Given the description of an element on the screen output the (x, y) to click on. 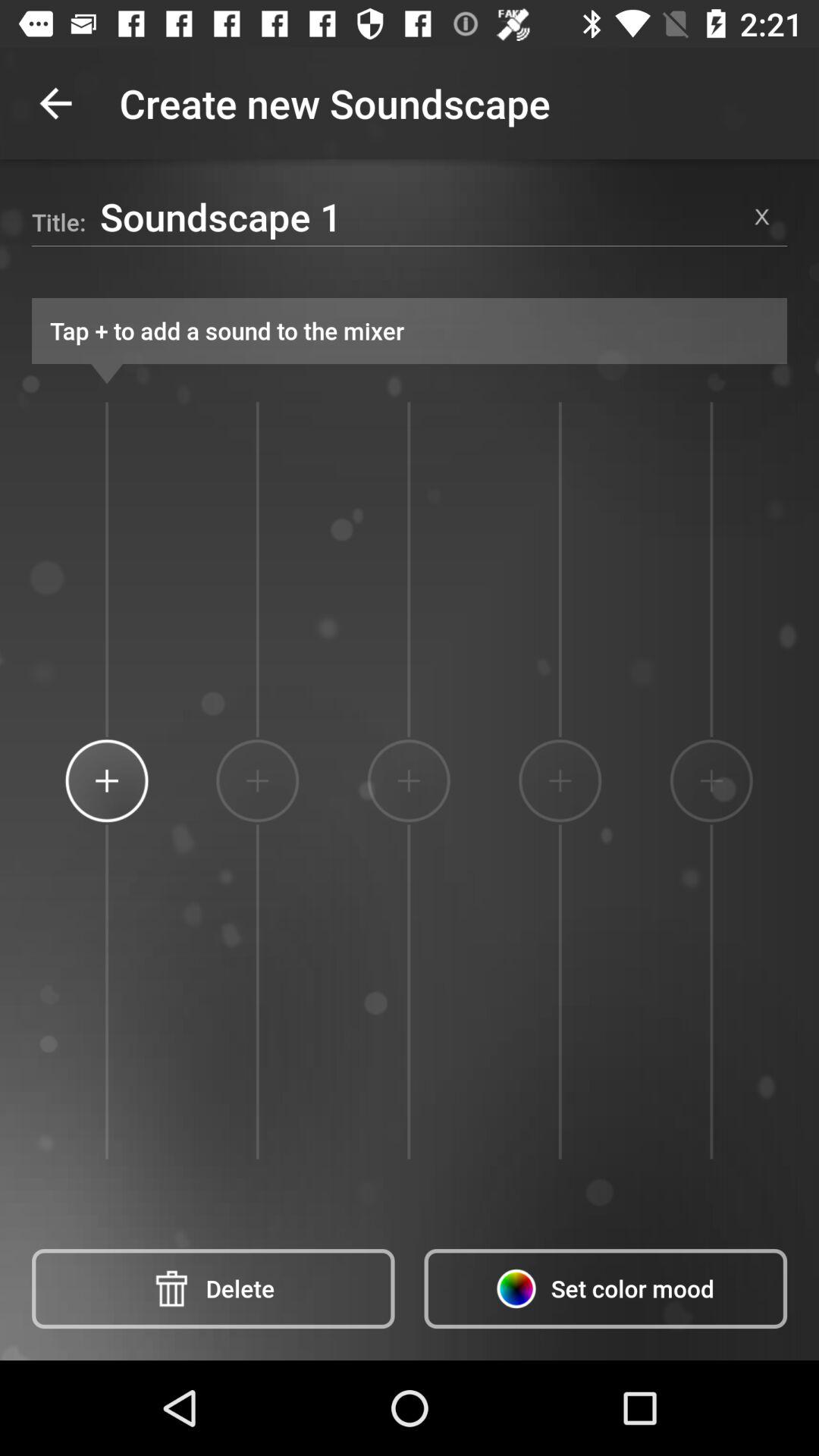
launch item above soundscape 1 icon (55, 103)
